Given the description of an element on the screen output the (x, y) to click on. 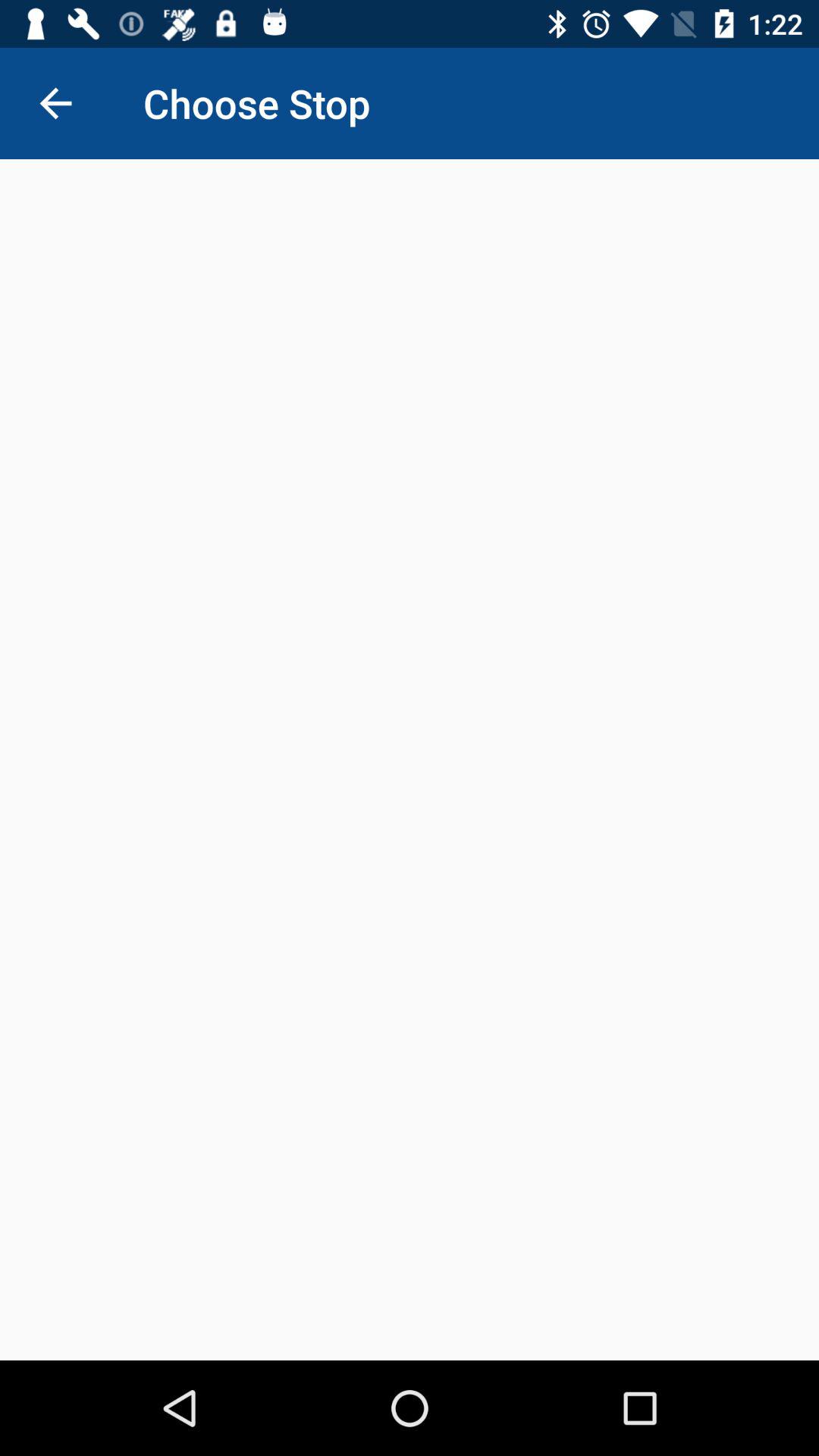
select the item next to choose stop icon (55, 103)
